Given the description of an element on the screen output the (x, y) to click on. 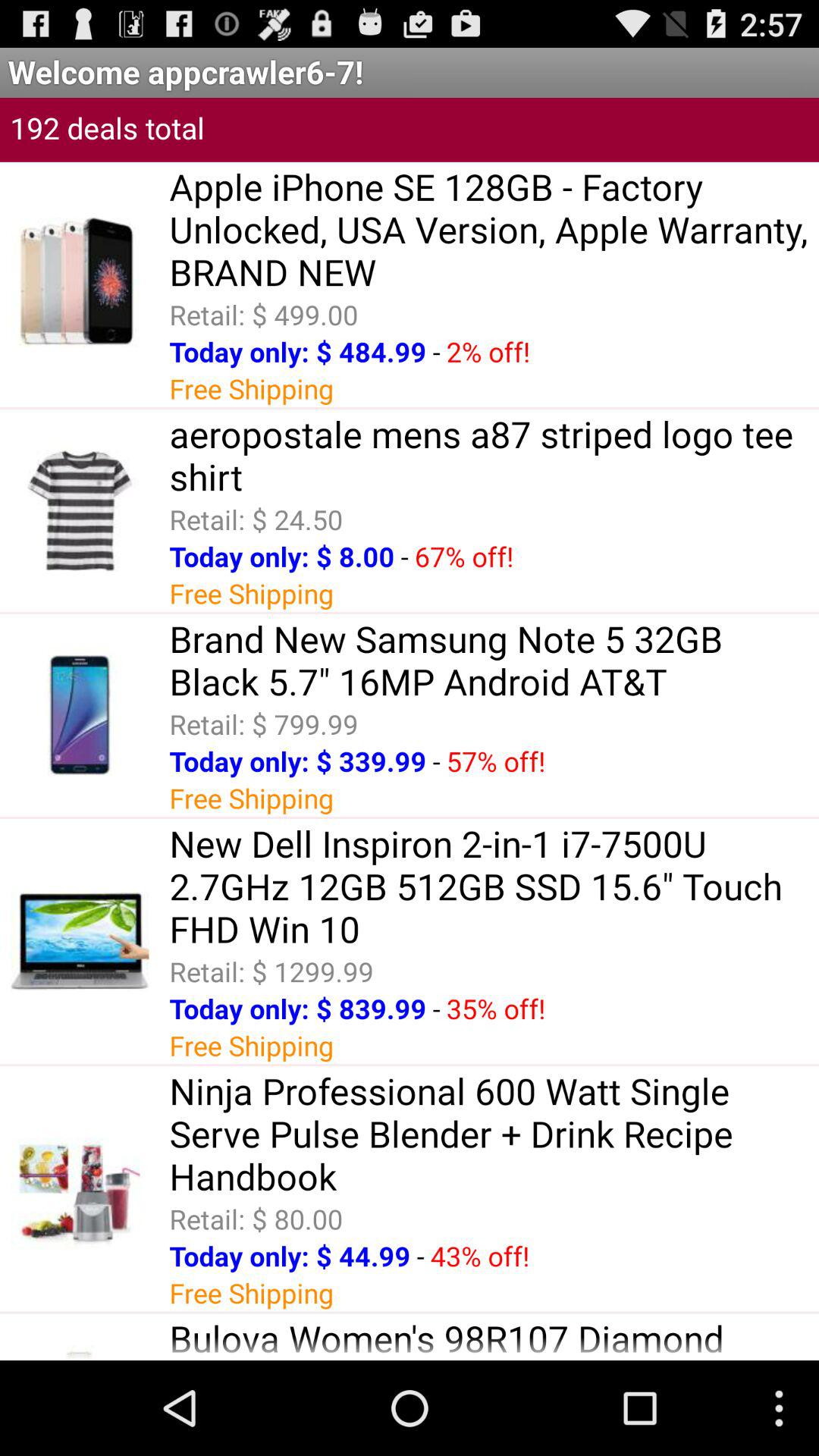
press item above the retail: $ 499.00 icon (494, 229)
